Given the description of an element on the screen output the (x, y) to click on. 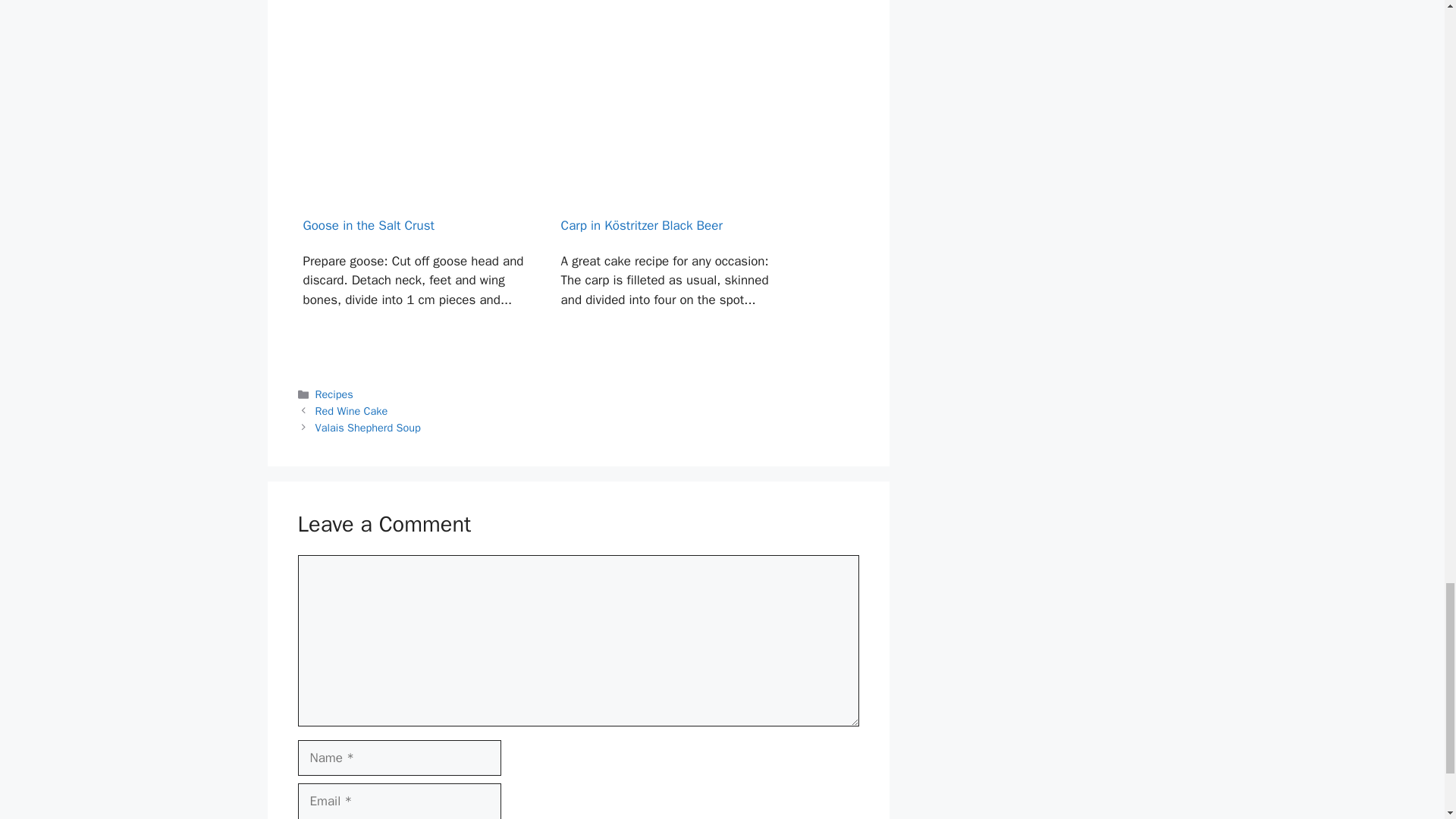
Valais Shepherd Soup (367, 427)
Coconut Slices (673, 21)
Recipes (334, 394)
Minced Tomato Toast Casserole (414, 21)
Red Wine Cake (351, 410)
